Given the description of an element on the screen output the (x, y) to click on. 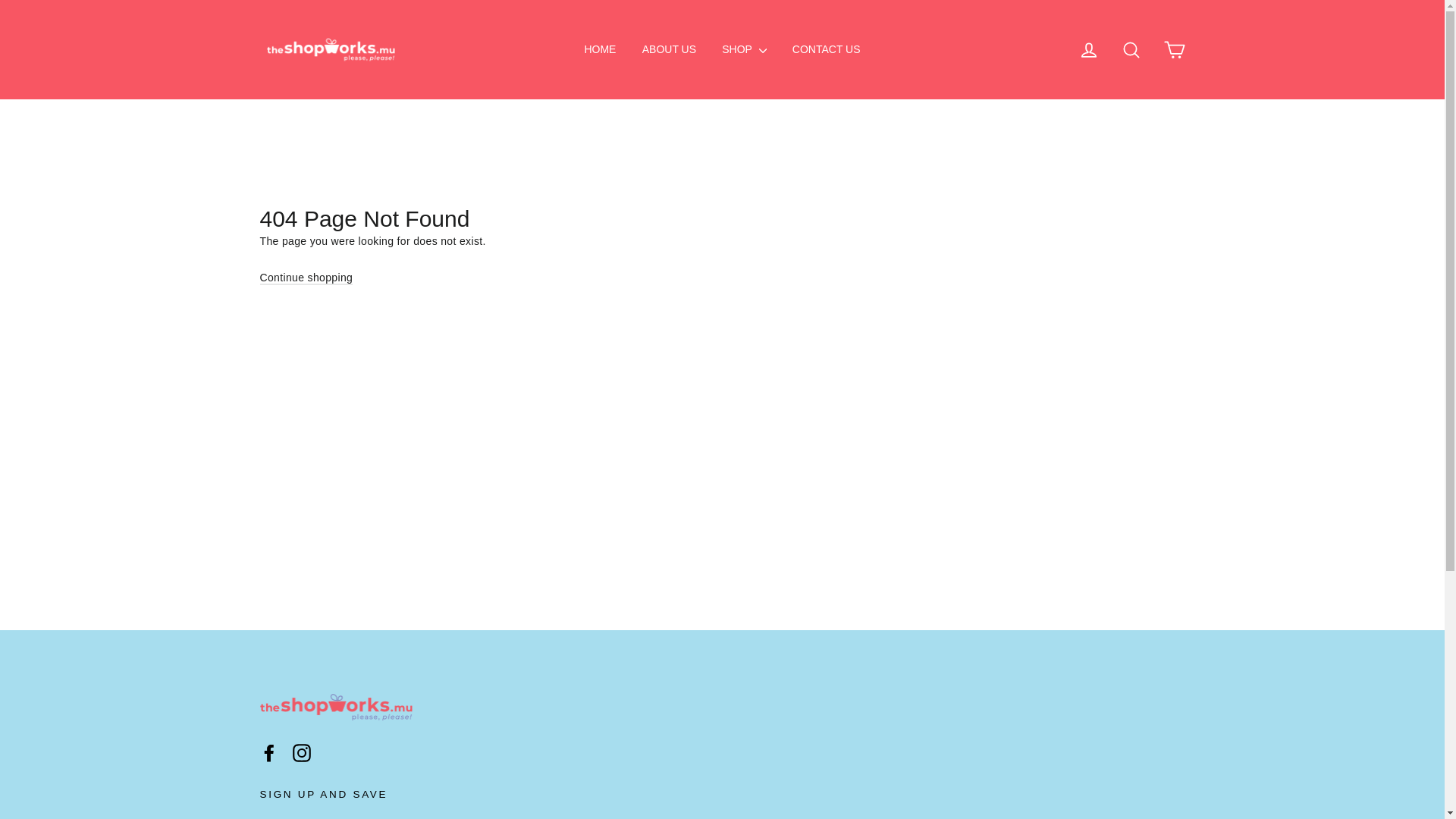
theshopworks.mu on Facebook (268, 752)
theshopworks.mu on Instagram (301, 752)
